Given the description of an element on the screen output the (x, y) to click on. 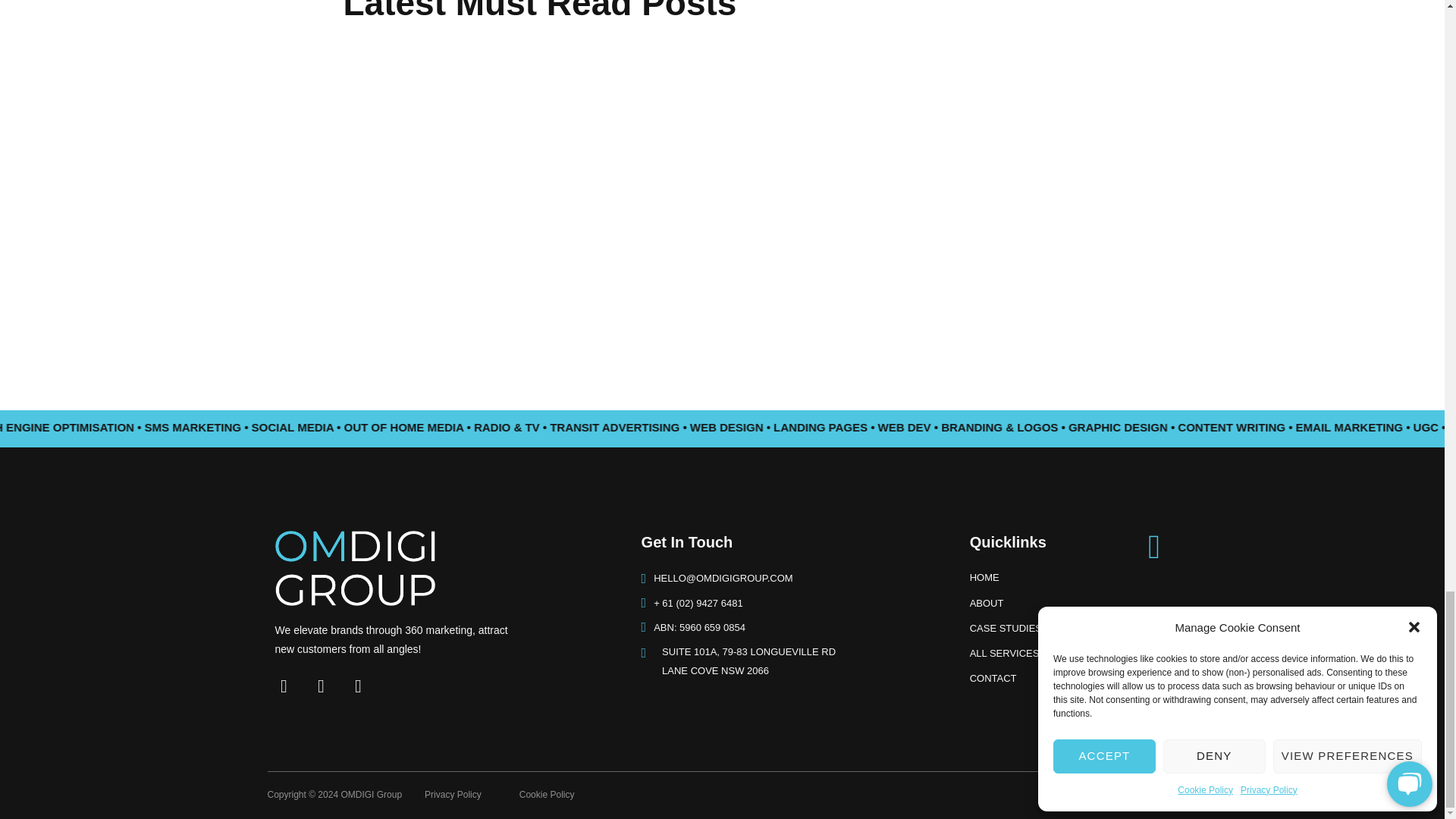
Quicklinks (1050, 541)
Get In Touch (802, 661)
Cookie Policy (1050, 629)
Privacy Policy (802, 545)
Latest Must Read Posts (547, 795)
ABN: 5960 659 0854 (460, 795)
